Given the description of an element on the screen output the (x, y) to click on. 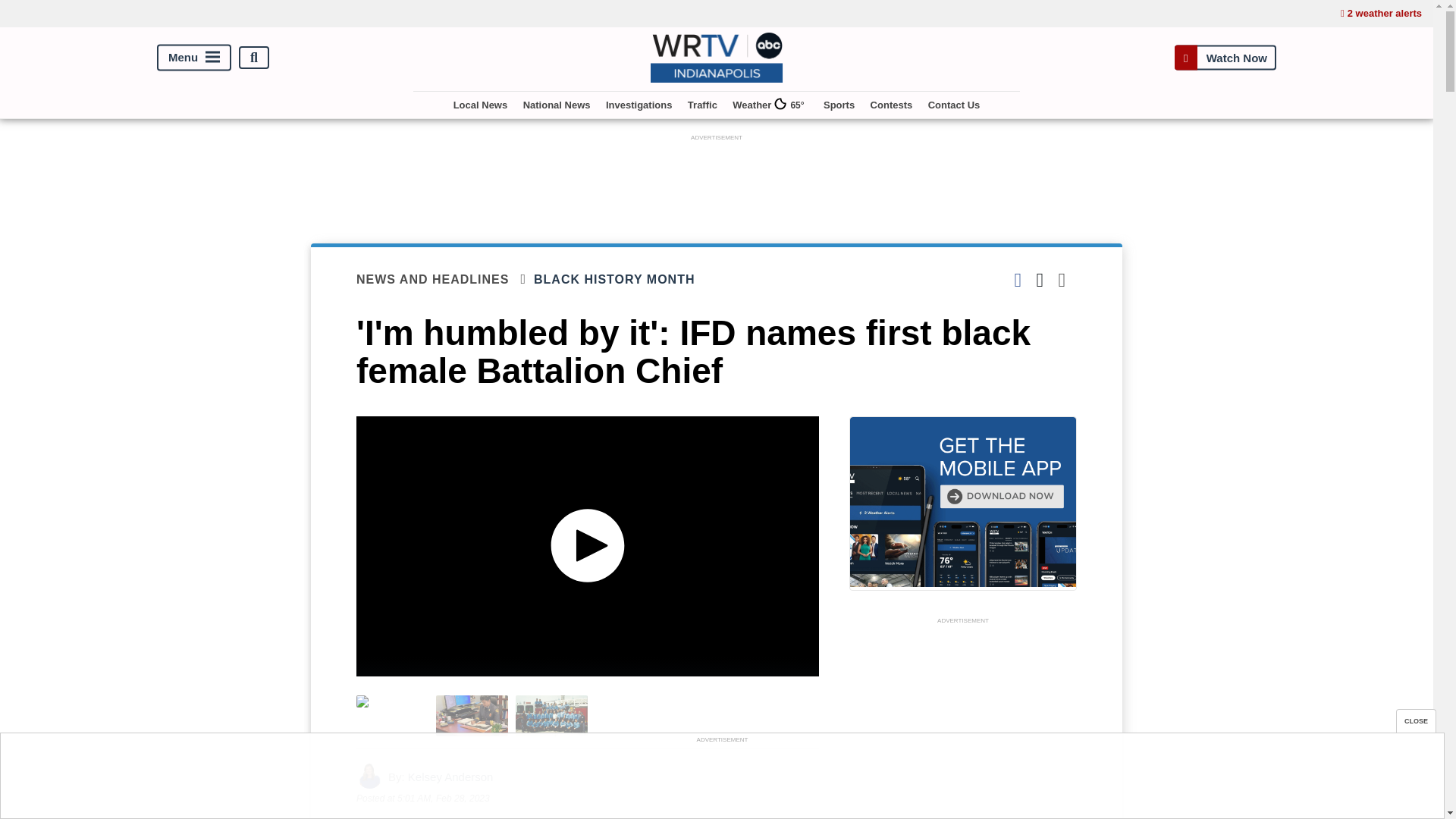
Watch Now (1224, 57)
3rd party ad content (716, 178)
3rd party ad content (962, 723)
Menu (194, 58)
3rd party ad content (721, 780)
